Given the description of an element on the screen output the (x, y) to click on. 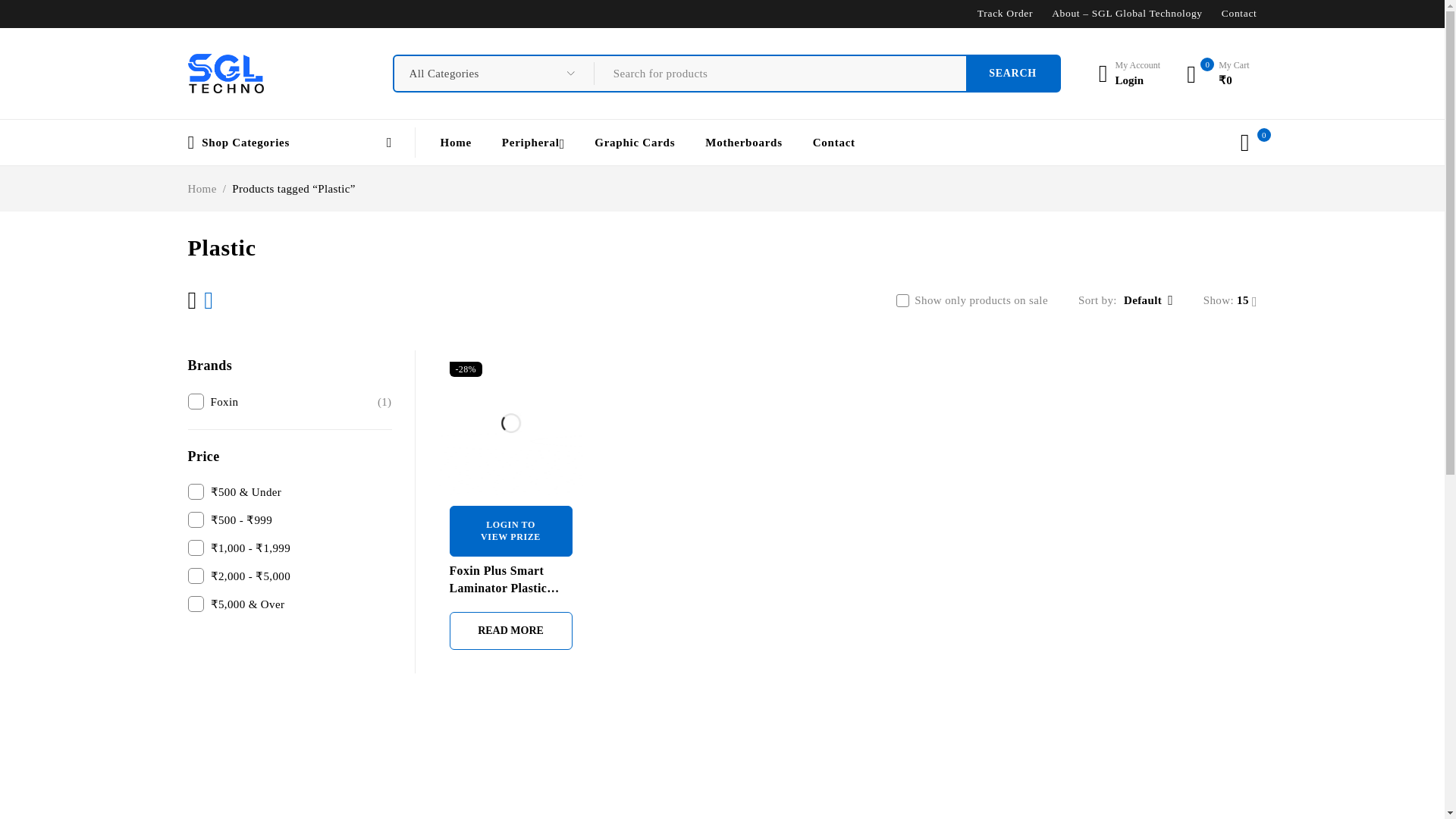
Search (1128, 72)
Search (1012, 73)
Contact (1012, 73)
Search (1239, 13)
Wishlist (1012, 73)
Ecomall (1245, 142)
Track Order (225, 73)
